Given the description of an element on the screen output the (x, y) to click on. 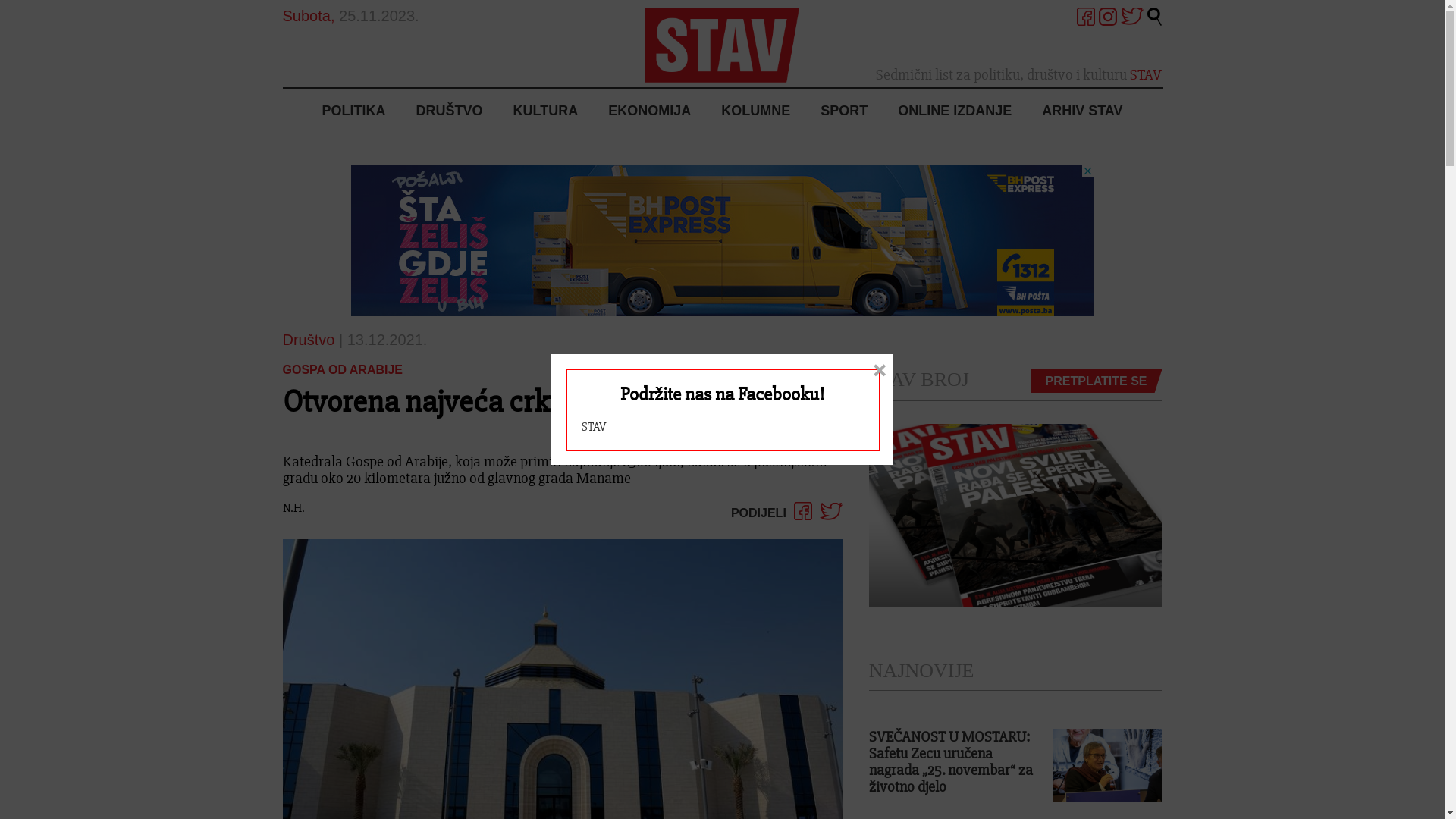
KULTURA Element type: text (545, 111)
EKONOMIJA Element type: text (649, 111)
3rd party ad content Element type: hover (721, 240)
PRETPLATITE SE Element type: text (1096, 381)
KOLUMNE Element type: text (755, 111)
POLITIKA Element type: text (360, 111)
STAV Element type: text (593, 426)
ARHIV STAV Element type: text (1074, 111)
ONLINE IZDANJE Element type: text (954, 111)
SPORT Element type: text (843, 111)
